Given the description of an element on the screen output the (x, y) to click on. 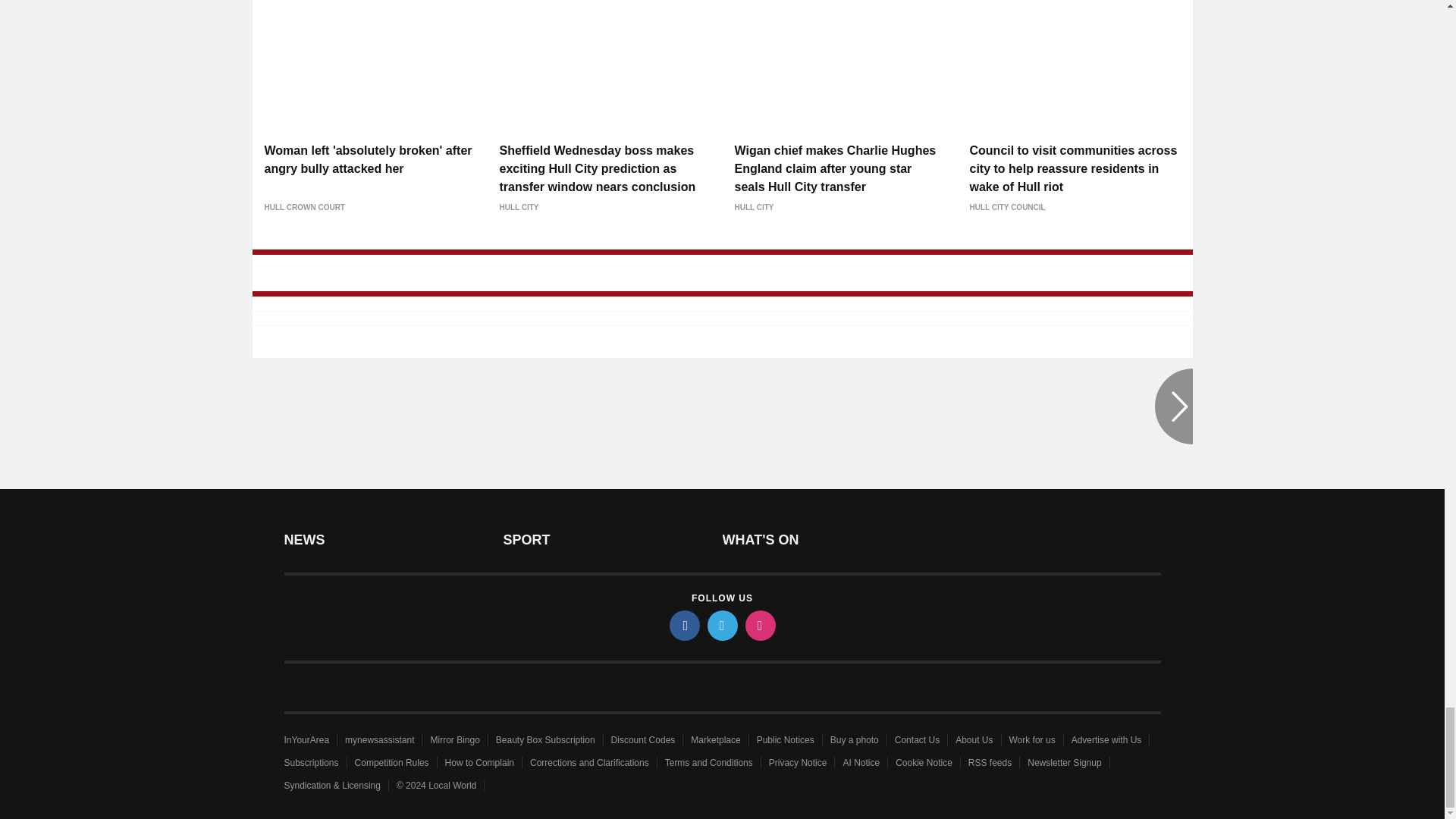
twitter (721, 625)
instagram (759, 625)
facebook (683, 625)
